Given the description of an element on the screen output the (x, y) to click on. 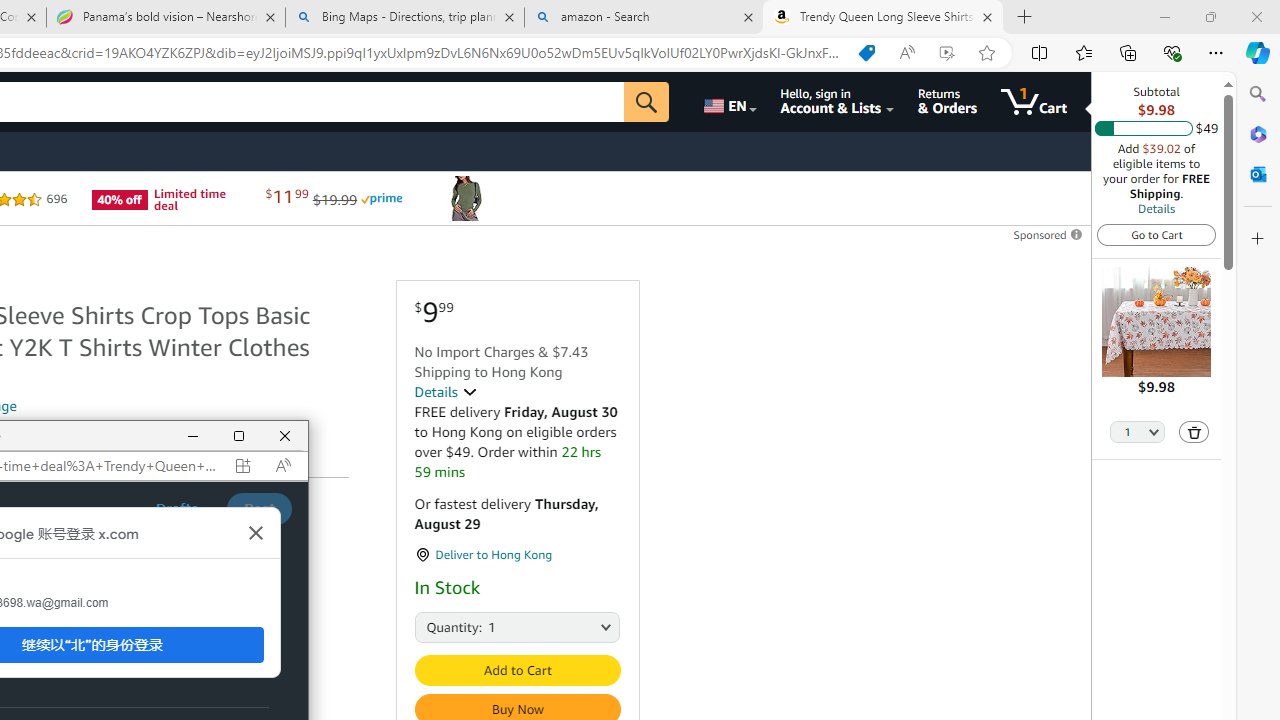
Prime (381, 198)
Quantity: (436, 626)
Delete (1194, 431)
Delete (1193, 431)
1 item in cart (1034, 101)
amazon - Search (643, 17)
App available. Install X (242, 465)
Details (1156, 208)
Choose a language for shopping. (728, 101)
